Given the description of an element on the screen output the (x, y) to click on. 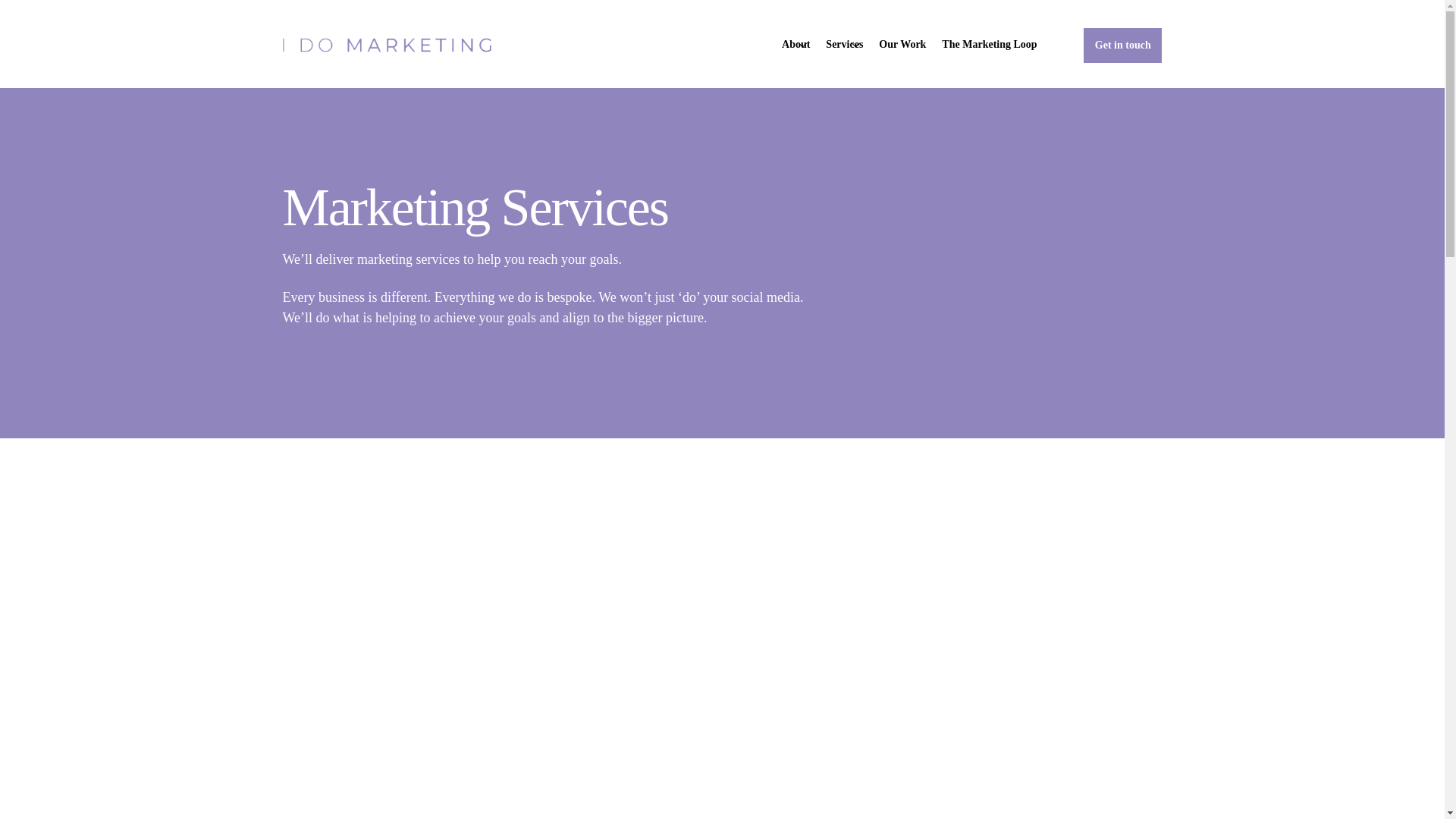
Get in touch (1122, 45)
The Marketing Loop (988, 44)
Services (844, 44)
About (795, 44)
Our Work (901, 44)
